Given the description of an element on the screen output the (x, y) to click on. 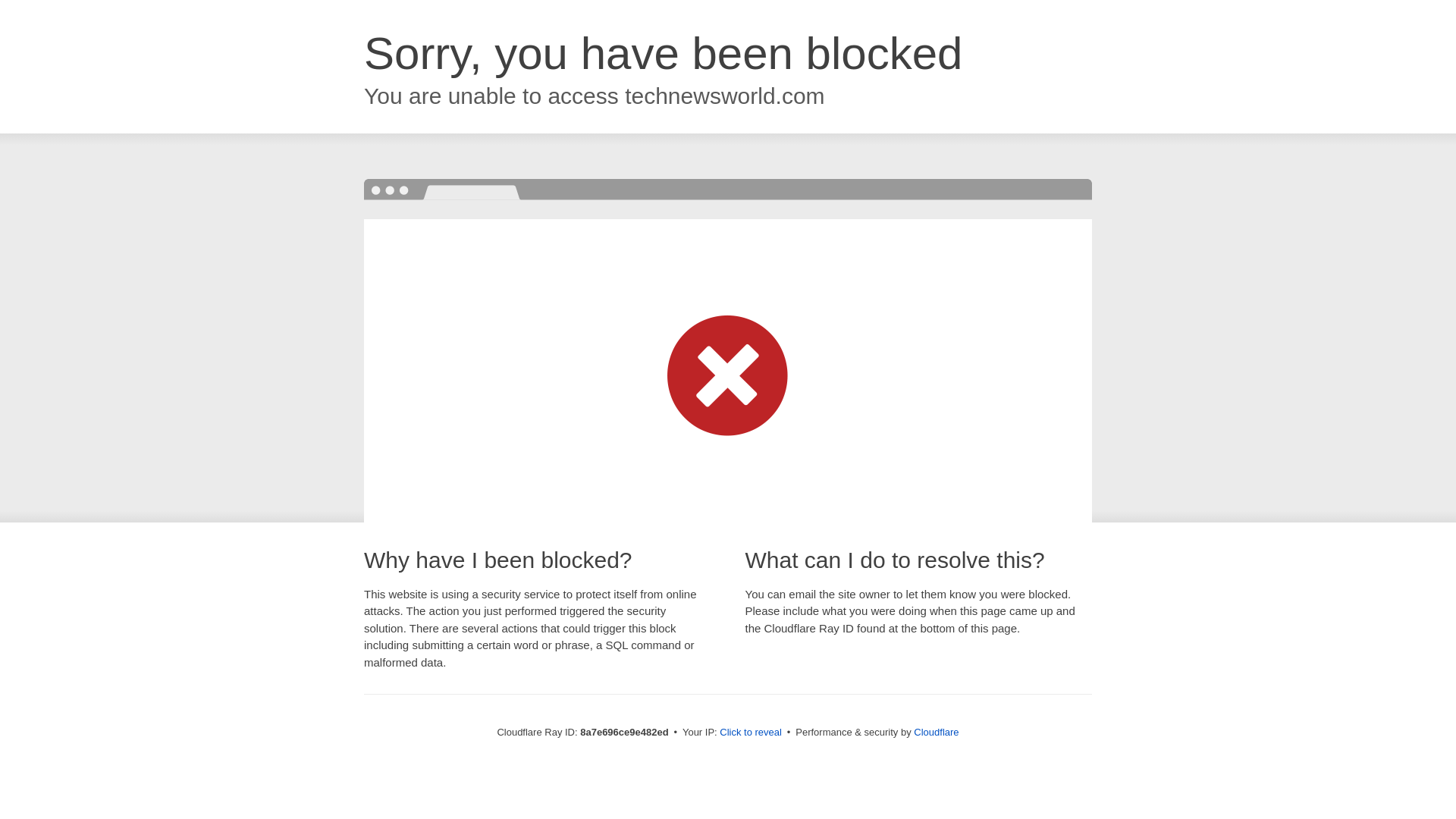
Cloudflare (936, 731)
Click to reveal (750, 732)
